Given the description of an element on the screen output the (x, y) to click on. 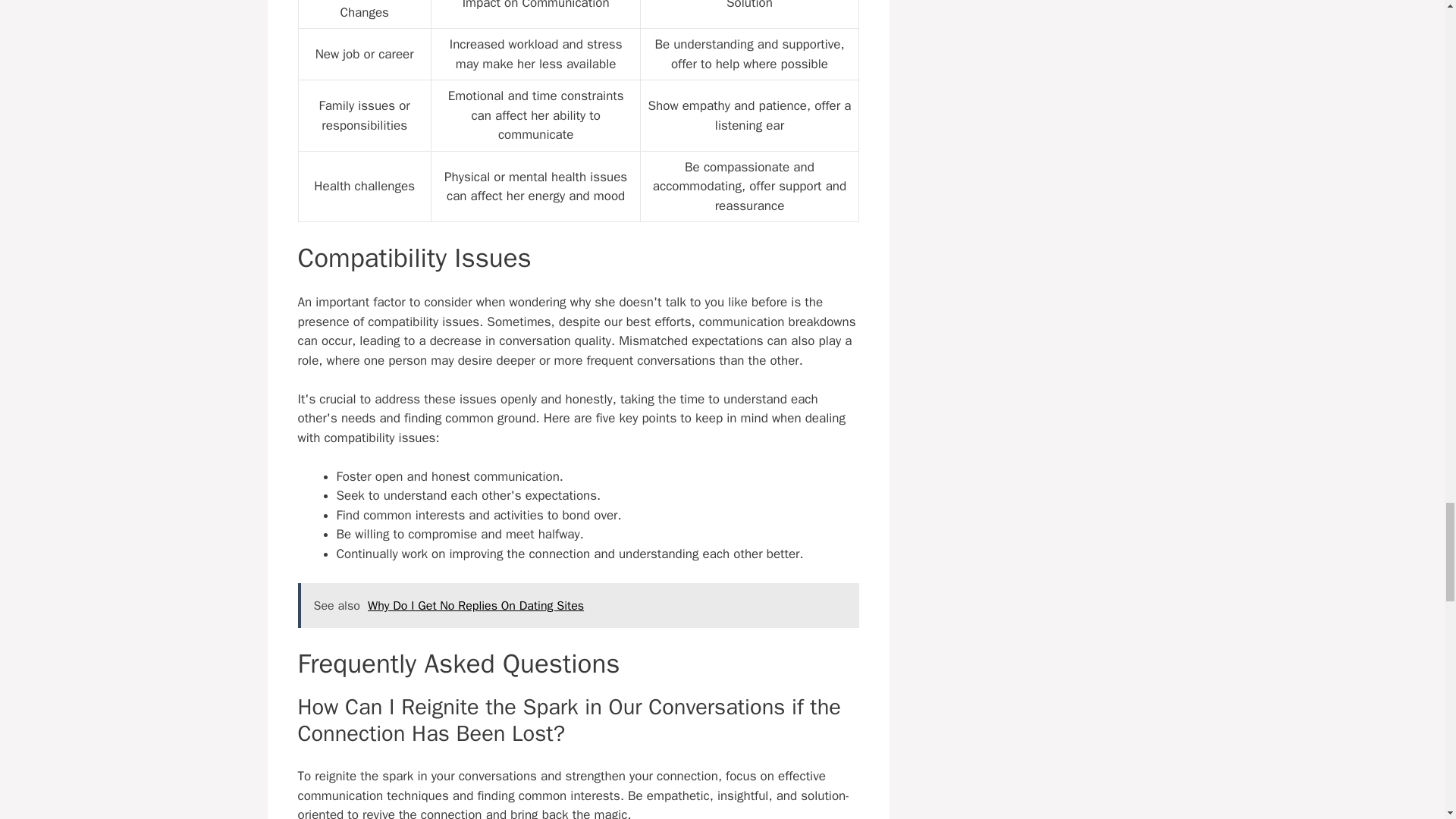
See also  Why Do I Get No Replies On Dating Sites (578, 605)
